Given the description of an element on the screen output the (x, y) to click on. 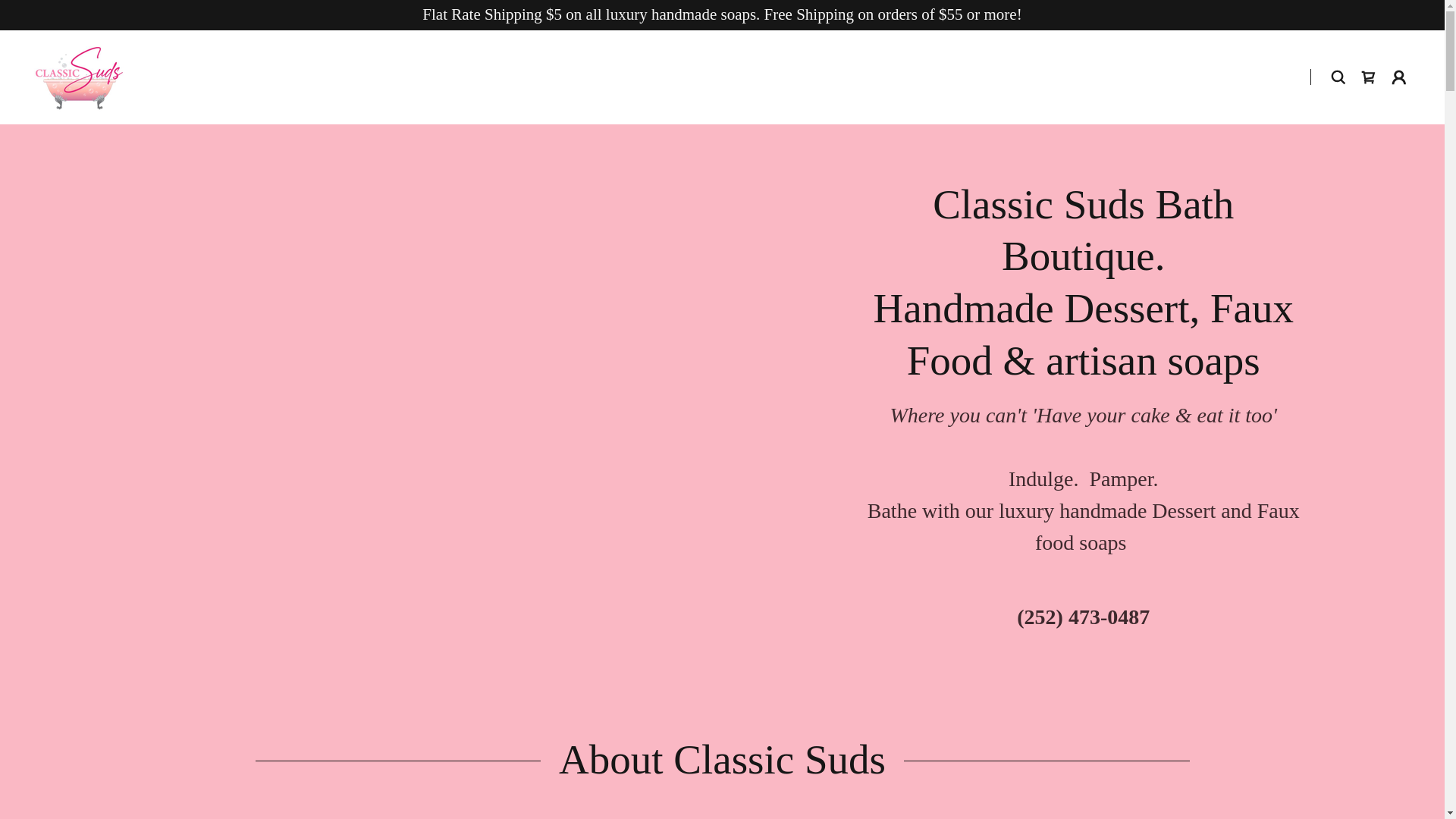
Classic Suds (79, 75)
